Given the description of an element on the screen output the (x, y) to click on. 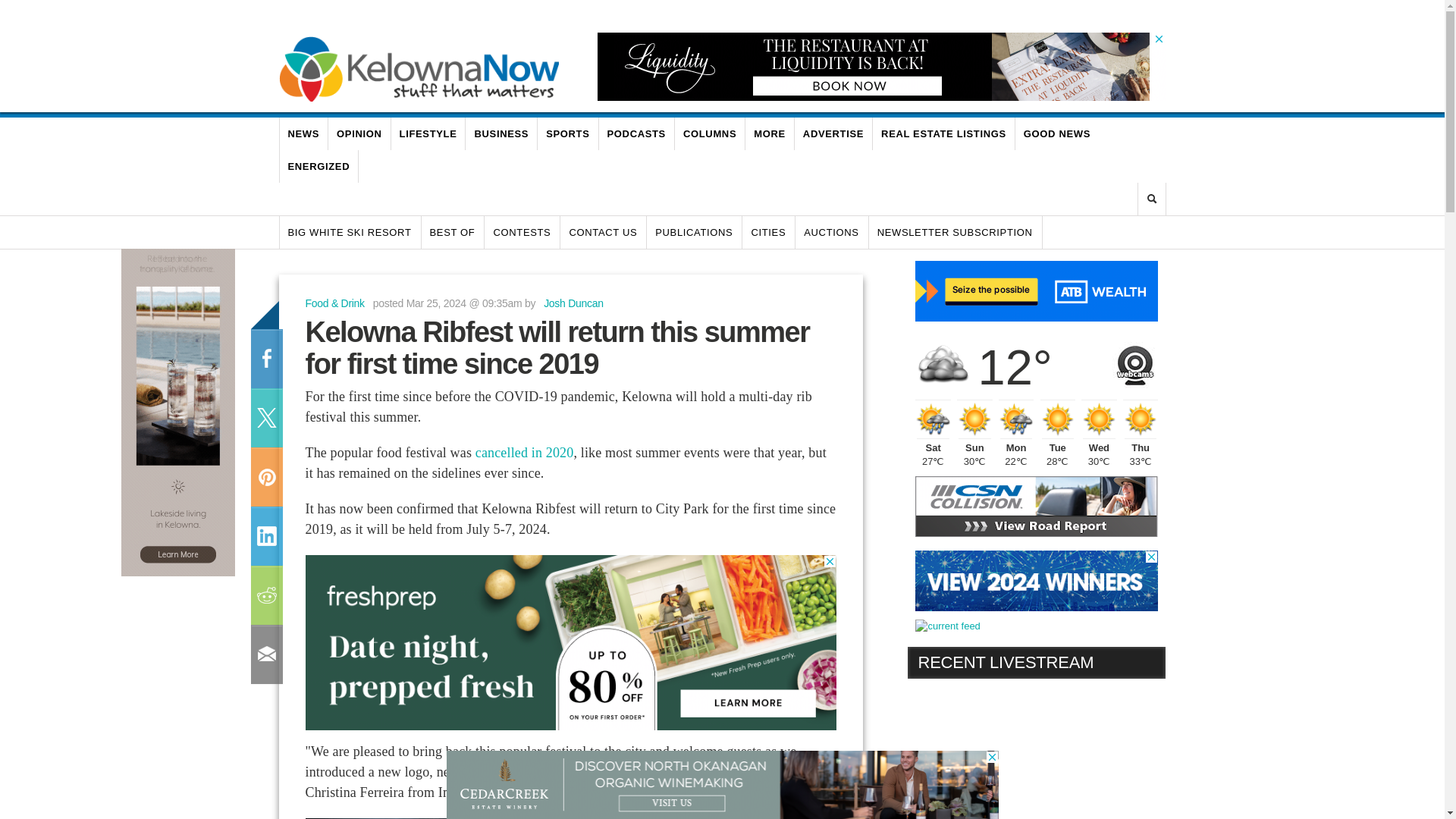
KelownaNow (419, 68)
weather-icon (973, 418)
weather-icon (1015, 418)
3rd party ad content (873, 66)
Share with email (266, 654)
Share on Reddit (266, 595)
3rd party ad content (569, 652)
Share on Pintrest (266, 476)
Share on LinkedIn (266, 536)
3rd party ad content (1036, 291)
Share on Facebook (266, 358)
Share on Twitter (266, 417)
weather-icon (932, 418)
weather-icon (1058, 418)
